Given the description of an element on the screen output the (x, y) to click on. 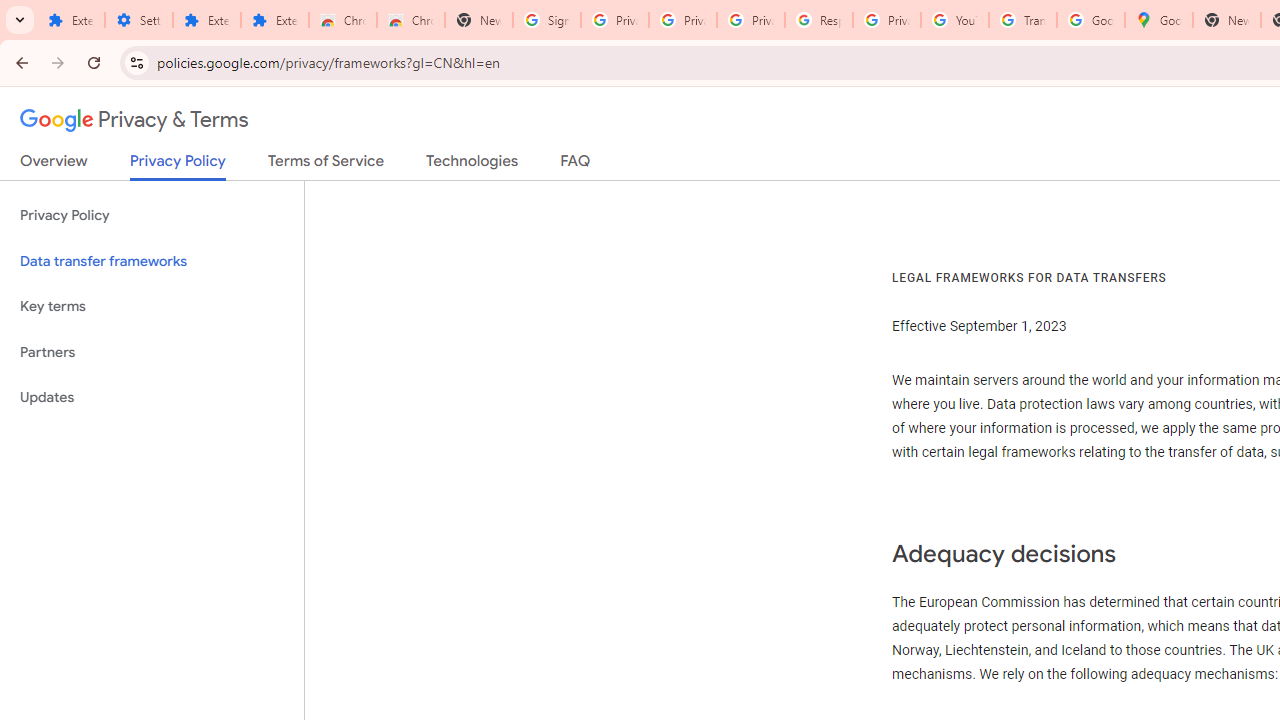
Extensions (274, 20)
Chrome Web Store (342, 20)
